Given the description of an element on the screen output the (x, y) to click on. 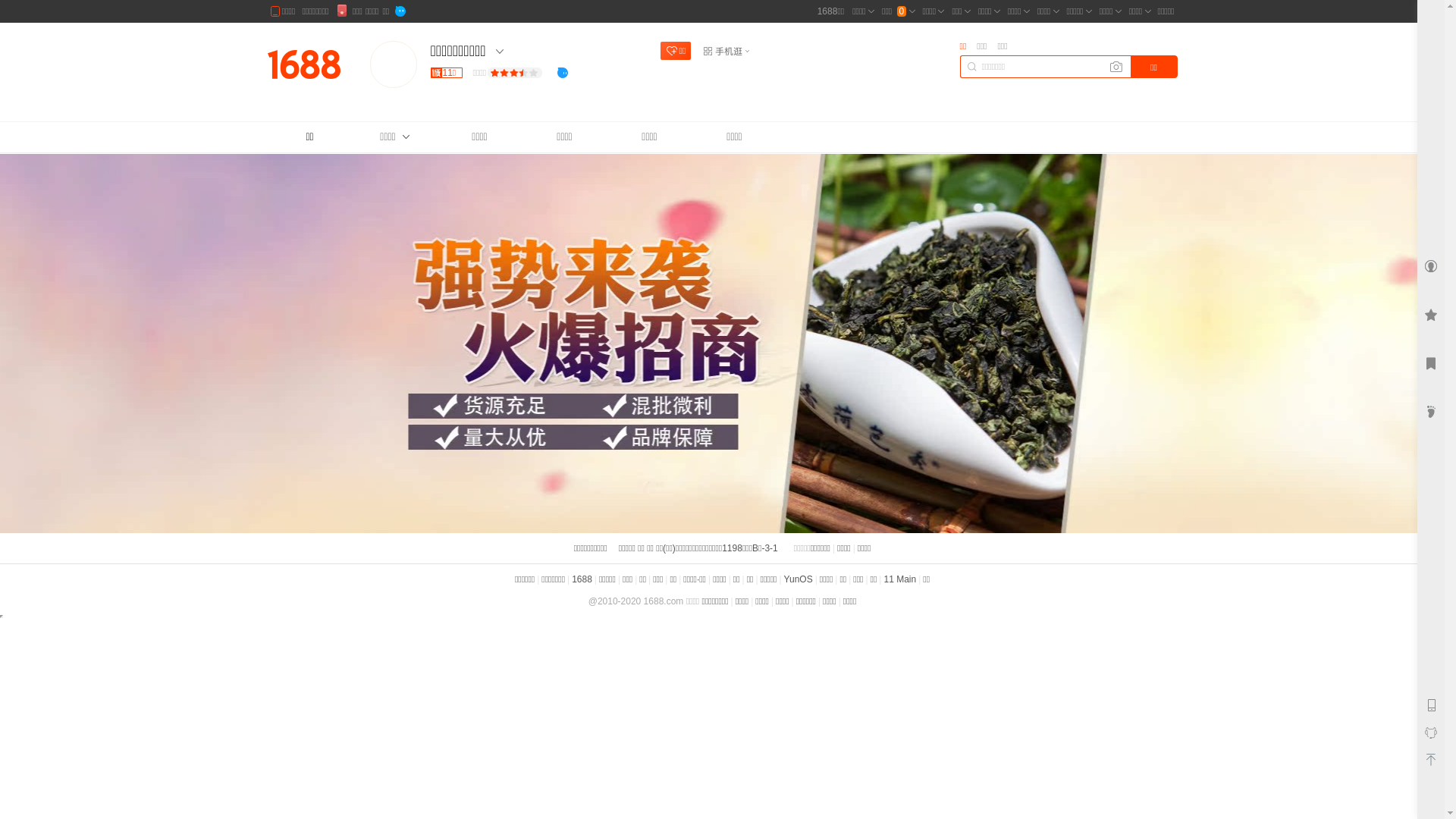
YunOS Element type: text (798, 579)
11 Main Element type: text (899, 579)
1688 Element type: text (581, 579)
